Given the description of an element on the screen output the (x, y) to click on. 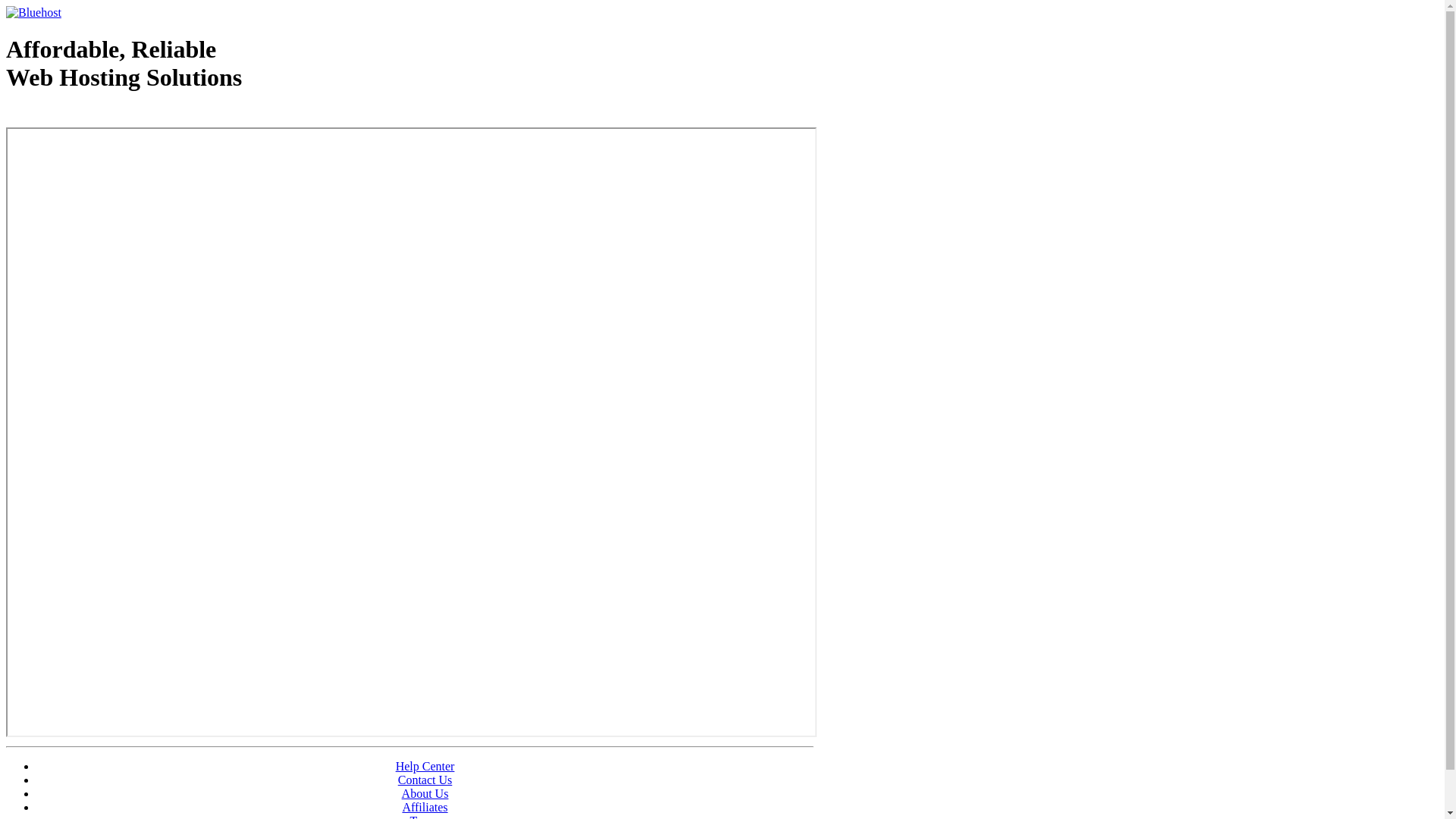
Contact Us Element type: text (425, 779)
Affiliates Element type: text (424, 806)
Help Center Element type: text (425, 765)
Web Hosting - courtesy of www.bluehost.com Element type: text (94, 115)
About Us Element type: text (424, 793)
